Given the description of an element on the screen output the (x, y) to click on. 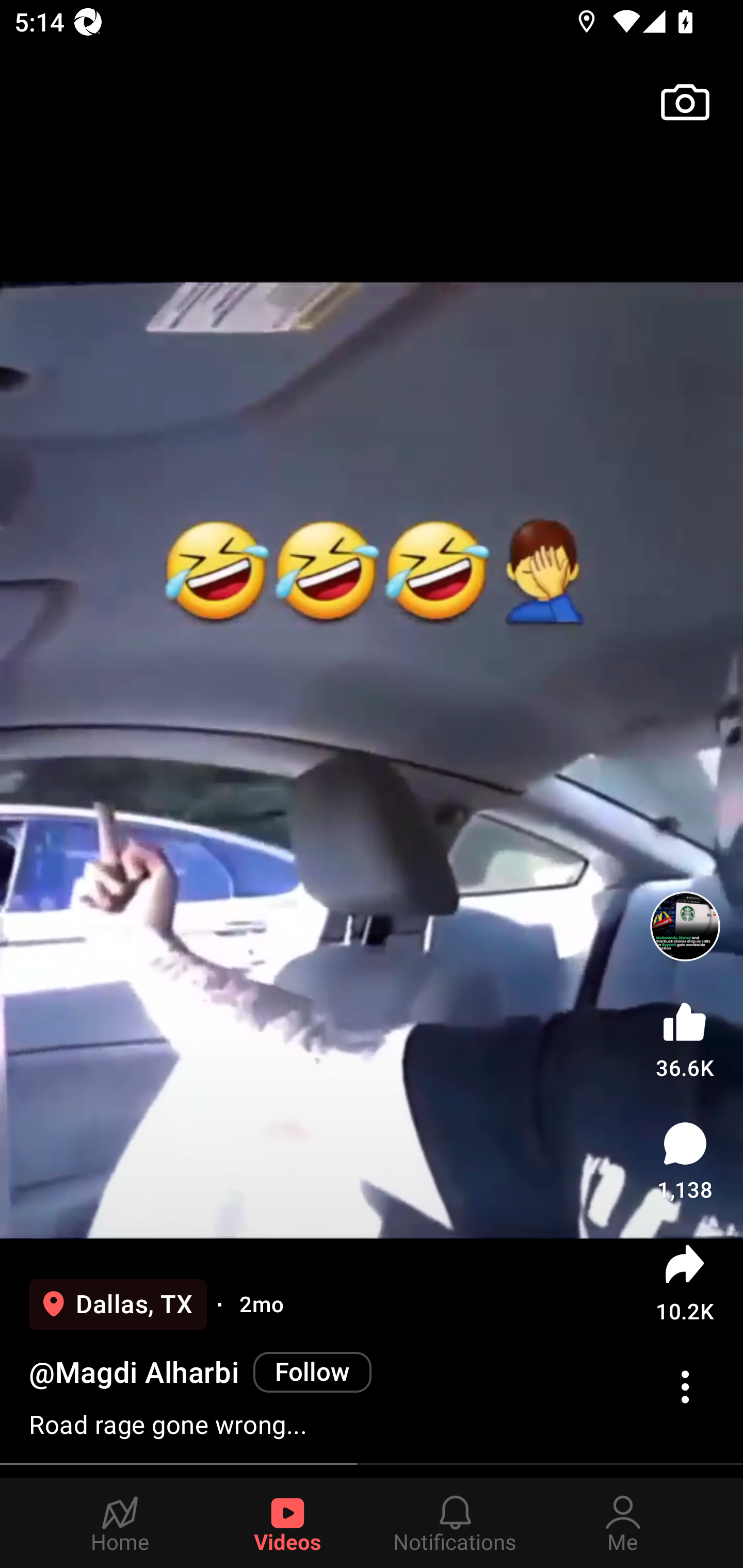
36.6K (684, 1035)
1,138 (685, 1160)
10.2K (685, 1282)
Dallas, TX (117, 1304)
Follow (312, 1371)
@Magdi Alharbi (133, 1373)
Home (119, 1522)
Notifications (455, 1522)
Me (622, 1522)
